Given the description of an element on the screen output the (x, y) to click on. 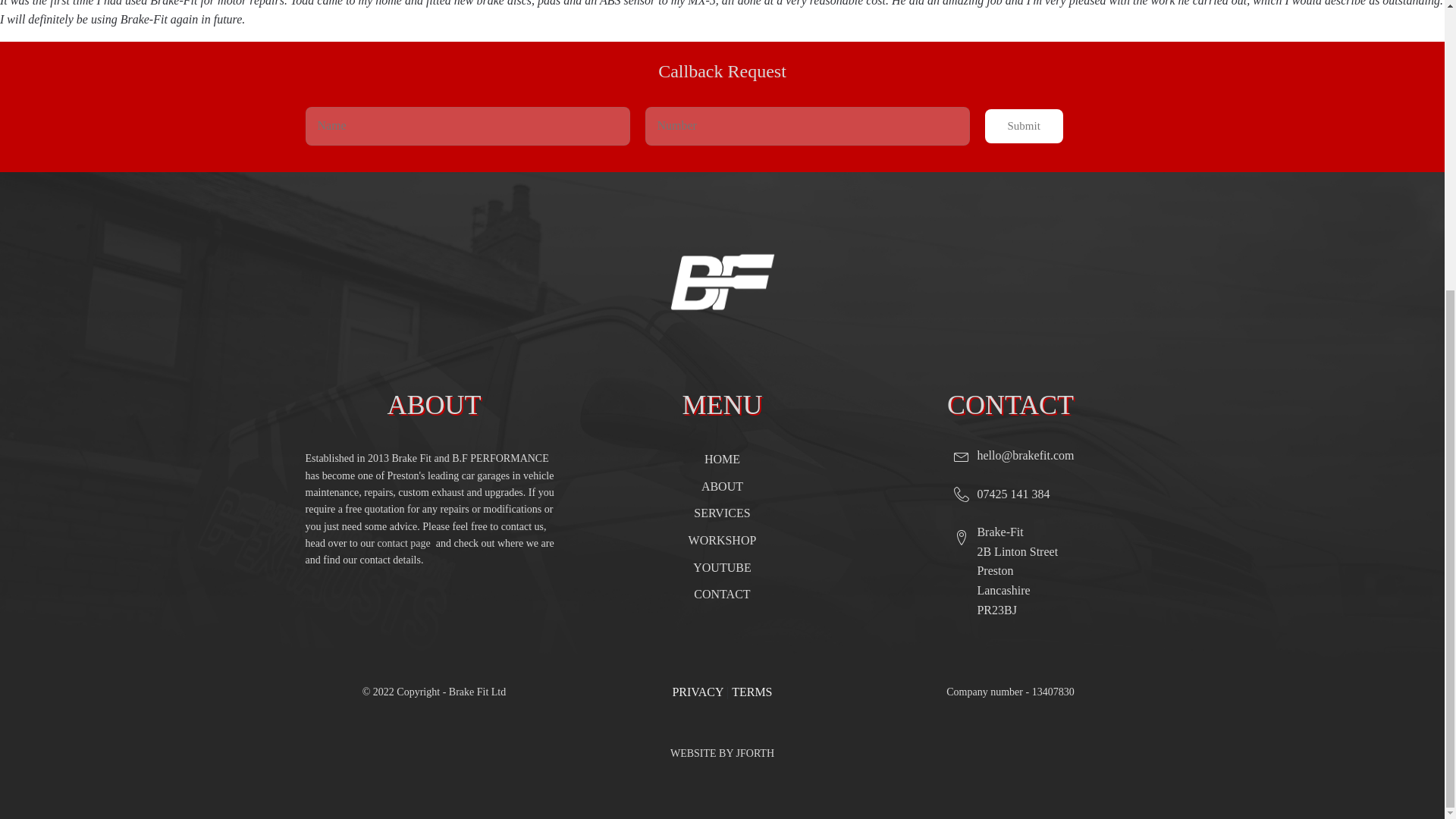
HOME (721, 459)
SERVICES (721, 513)
Submit (1023, 125)
ABOUT (721, 486)
contact page (406, 543)
